Given the description of an element on the screen output the (x, y) to click on. 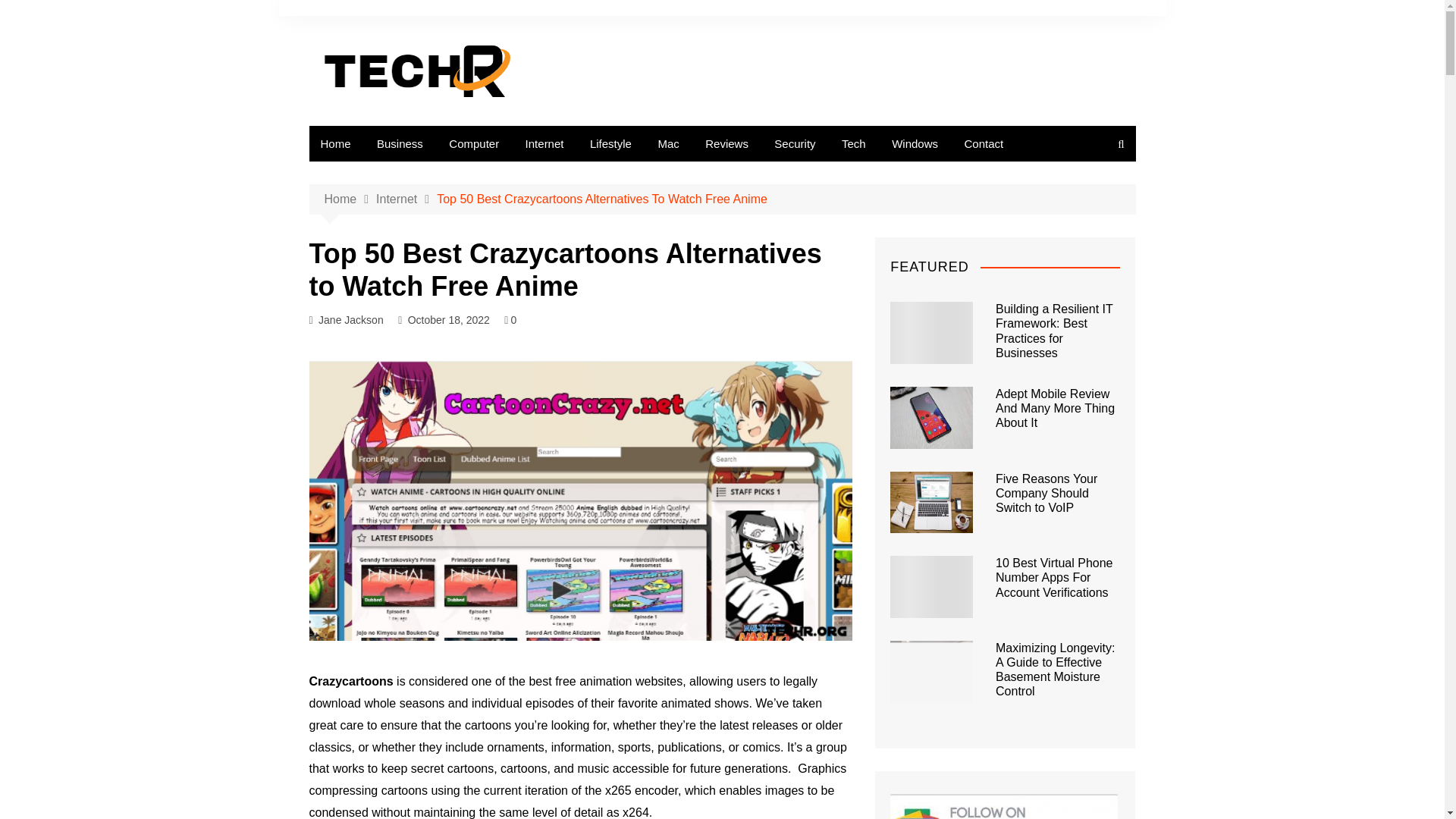
Security (794, 143)
October 18, 2022 (448, 320)
Lifestyle (610, 143)
Internet (544, 143)
Computer (474, 143)
Home (335, 143)
Windows (914, 143)
Tech (853, 143)
Reviews (727, 143)
Mac (668, 143)
